Given the description of an element on the screen output the (x, y) to click on. 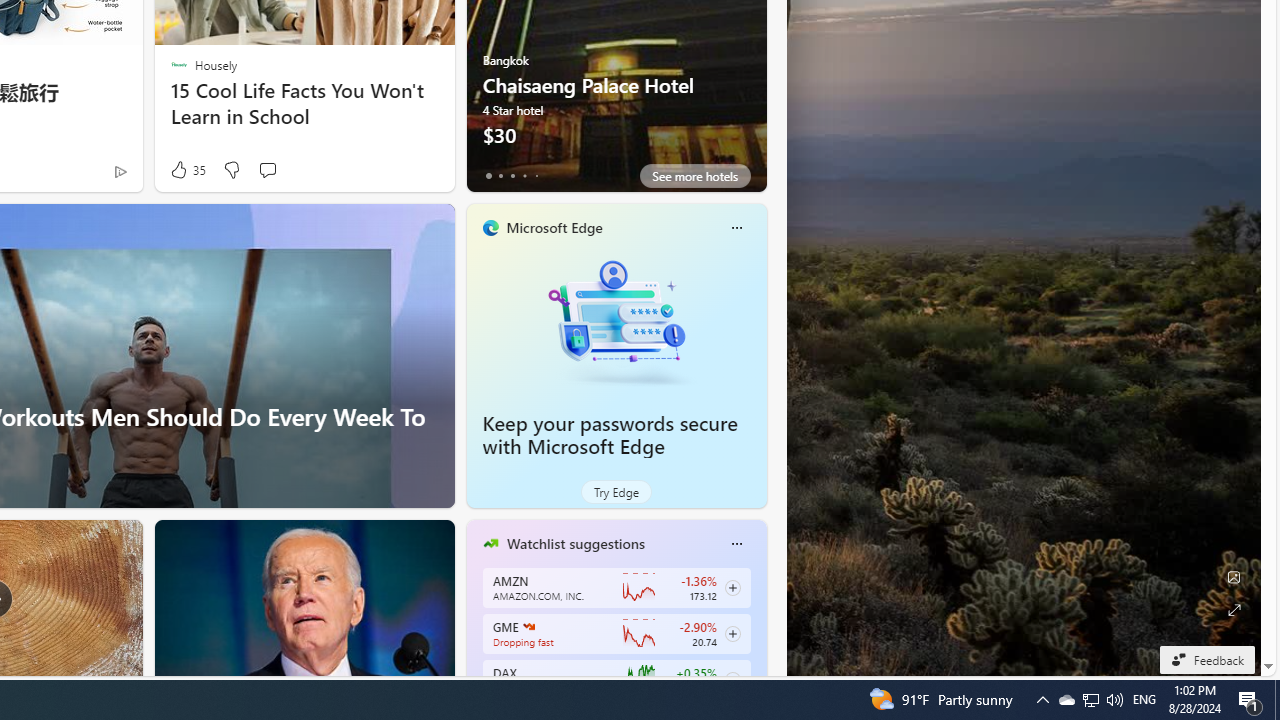
tab-3 (524, 175)
See more hotels (694, 175)
Keep your passwords secure with Microsoft Edge (616, 321)
tab-1 (500, 175)
Try Edge (616, 491)
Keep your passwords secure with Microsoft Edge (610, 435)
Watchlist suggestions (575, 543)
Expand background (1233, 610)
Edit Background (1233, 577)
Start the conversation (267, 169)
Class: follow-button  m (732, 679)
tab-2 (511, 175)
Feedback (1206, 659)
